Given the description of an element on the screen output the (x, y) to click on. 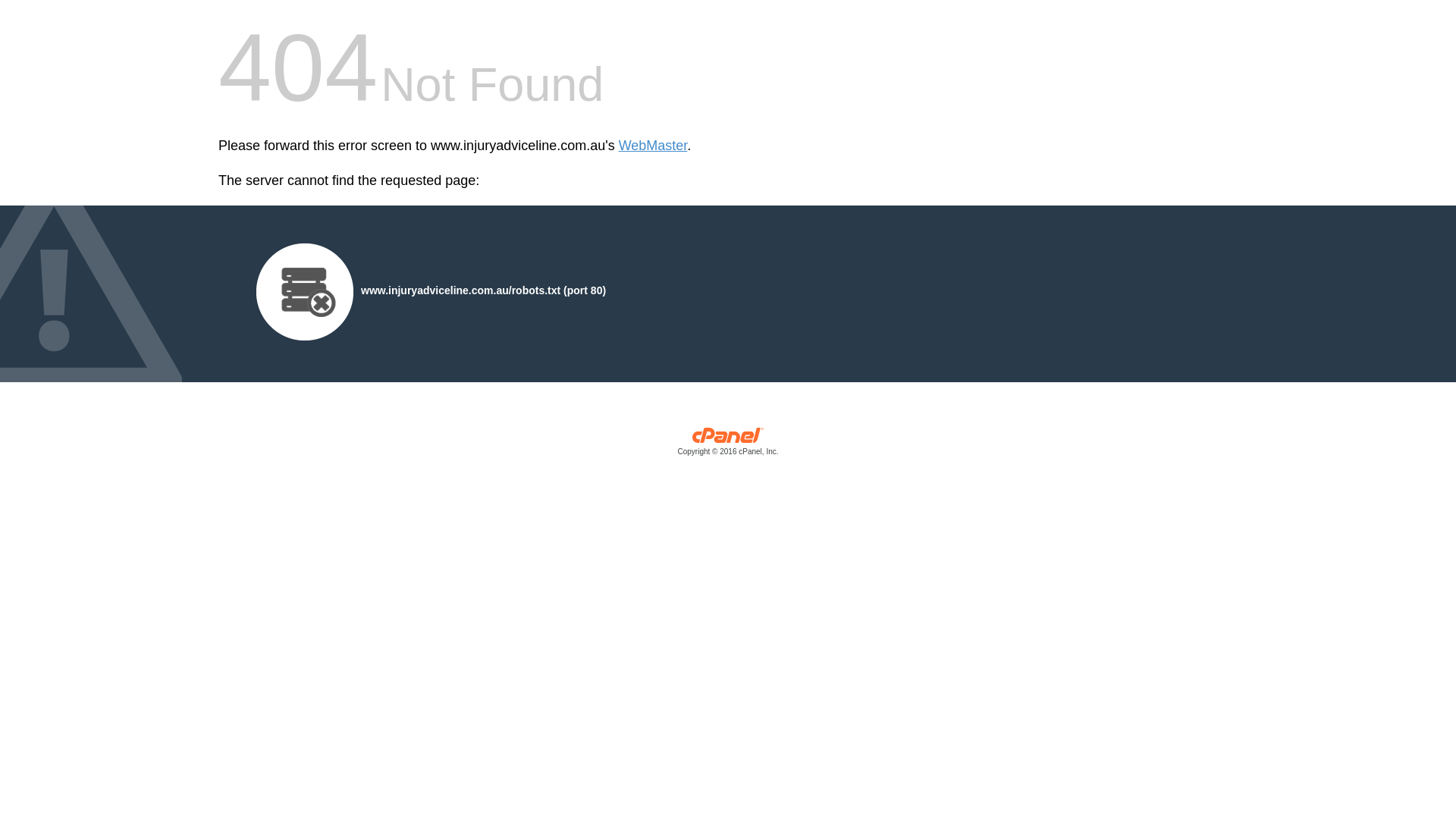
WebMaster Element type: text (652, 145)
